Given the description of an element on the screen output the (x, y) to click on. 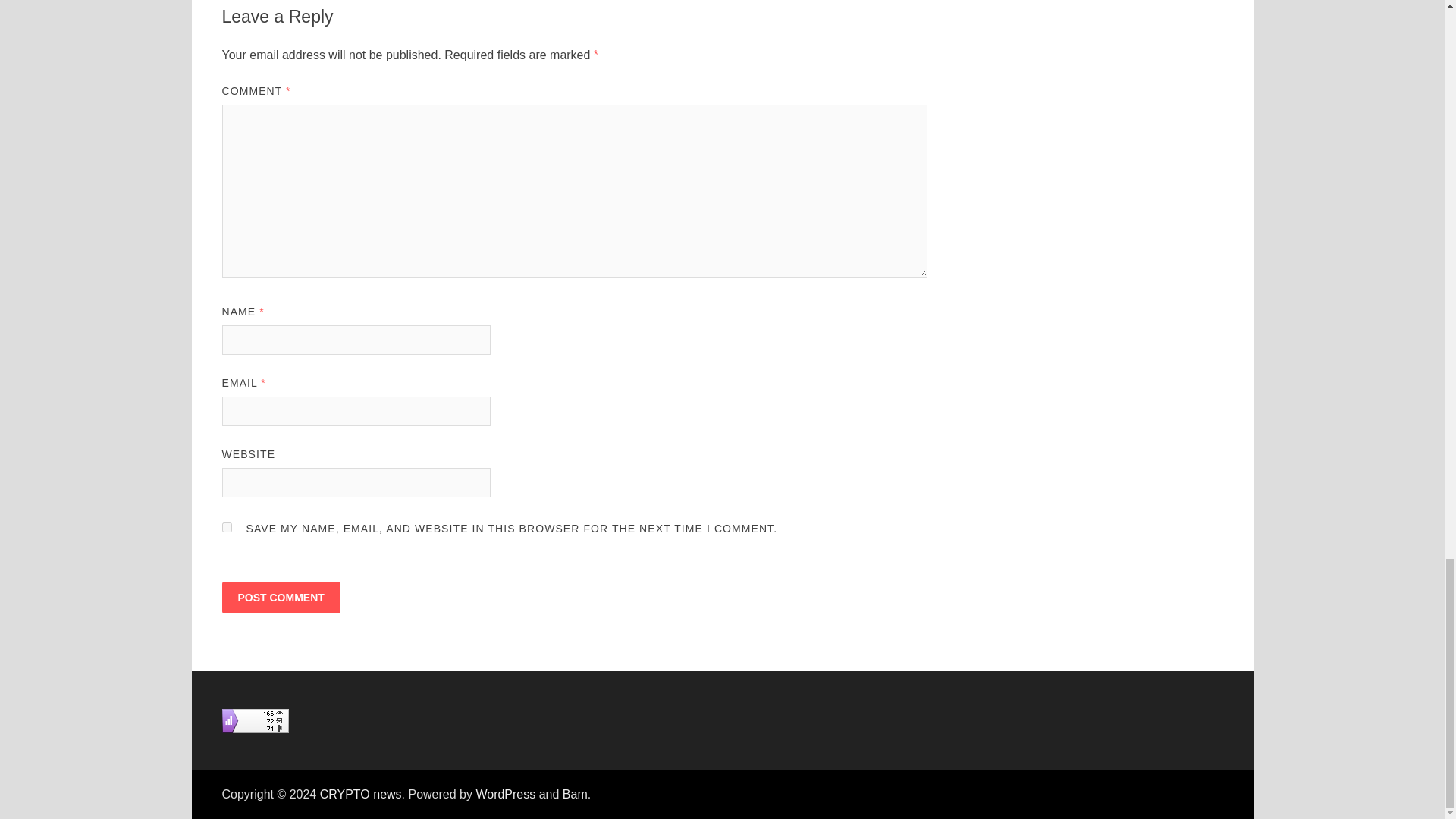
Post Comment (280, 597)
yes (226, 527)
CRYPTO news (360, 793)
